Given the description of an element on the screen output the (x, y) to click on. 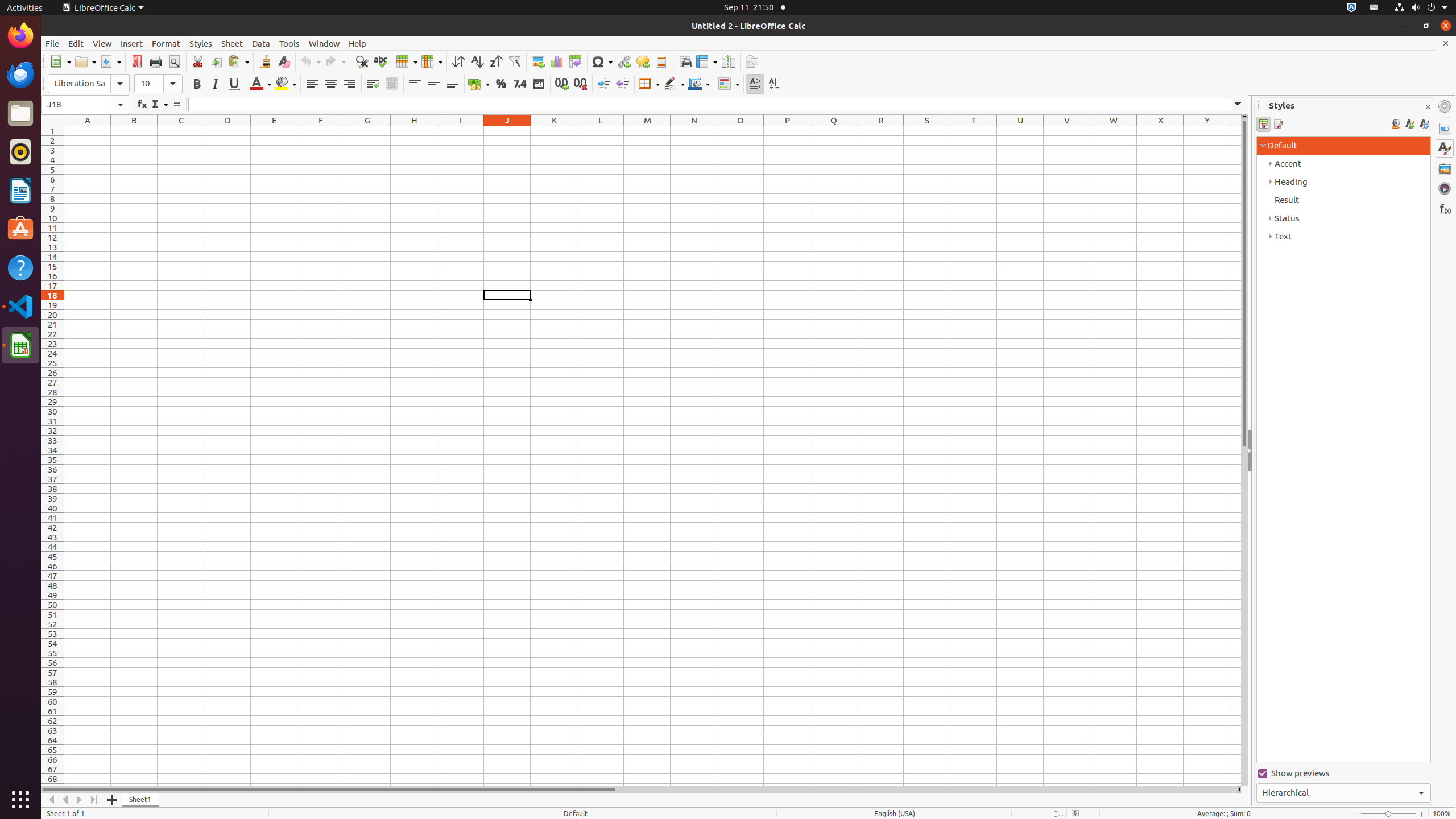
Select Function Element type: push-button (159, 104)
Wrap Text Element type: push-button (372, 83)
Row Element type: push-button (406, 61)
Open Element type: push-button (84, 61)
Fill Format Mode Element type: push-button (1395, 123)
